Given the description of an element on the screen output the (x, y) to click on. 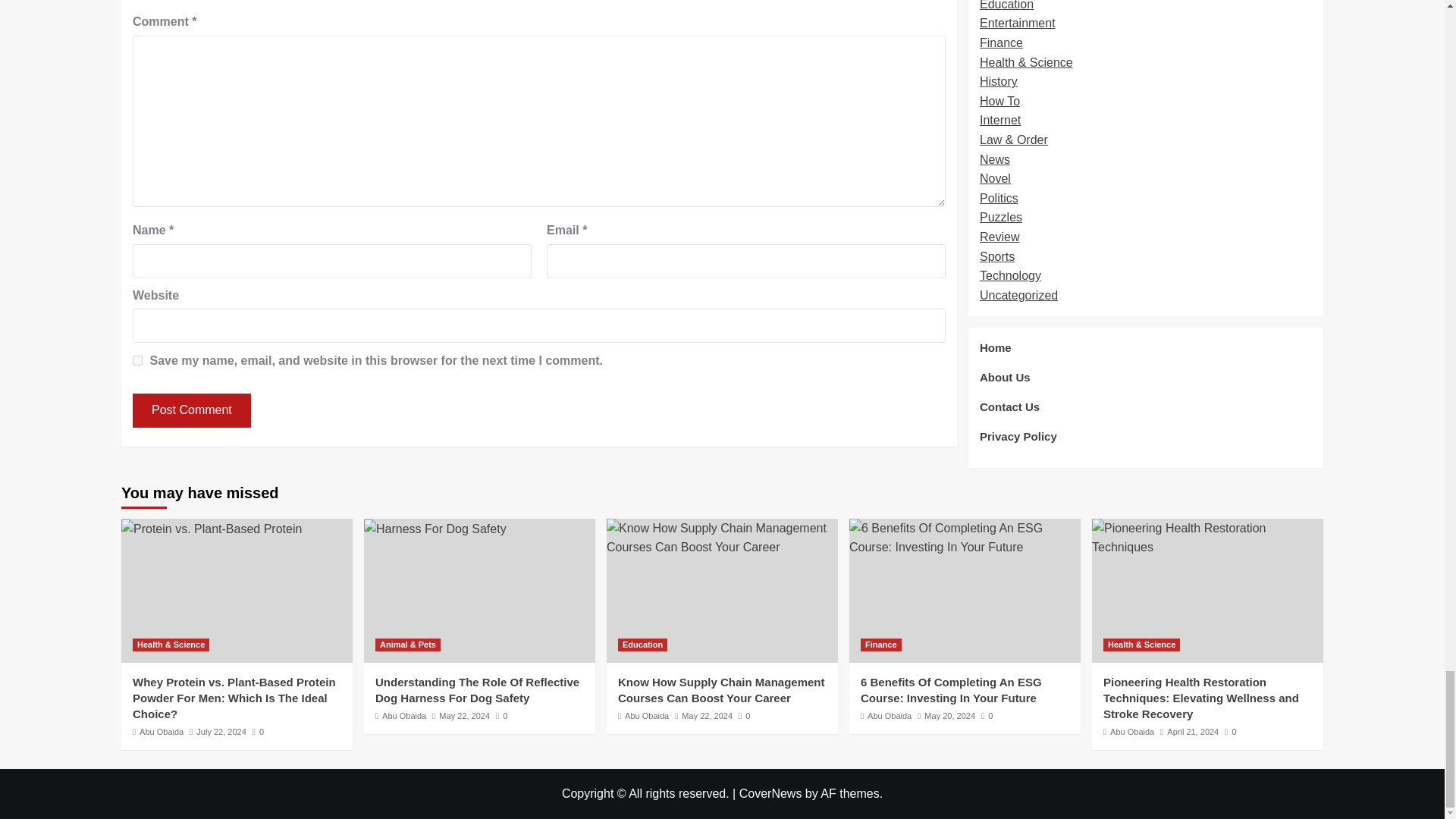
Post Comment (191, 410)
yes (137, 360)
